Given the description of an element on the screen output the (x, y) to click on. 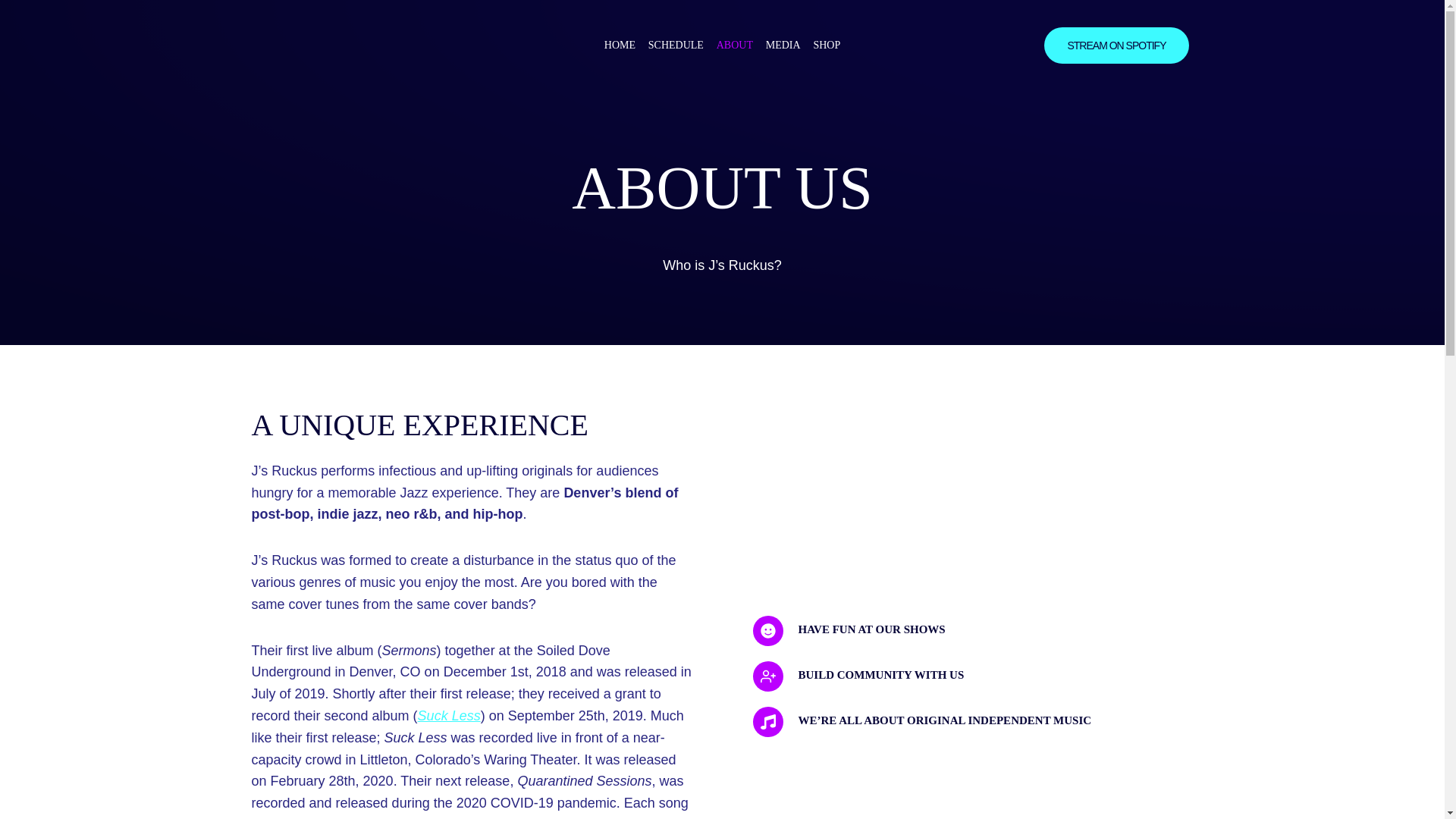
STREAM ON SPOTIFY (1115, 45)
SHOP (826, 45)
ABOUT (734, 45)
SCHEDULE (676, 45)
Suck Less (448, 715)
HOME (619, 45)
MEDIA (782, 45)
